Given the description of an element on the screen output the (x, y) to click on. 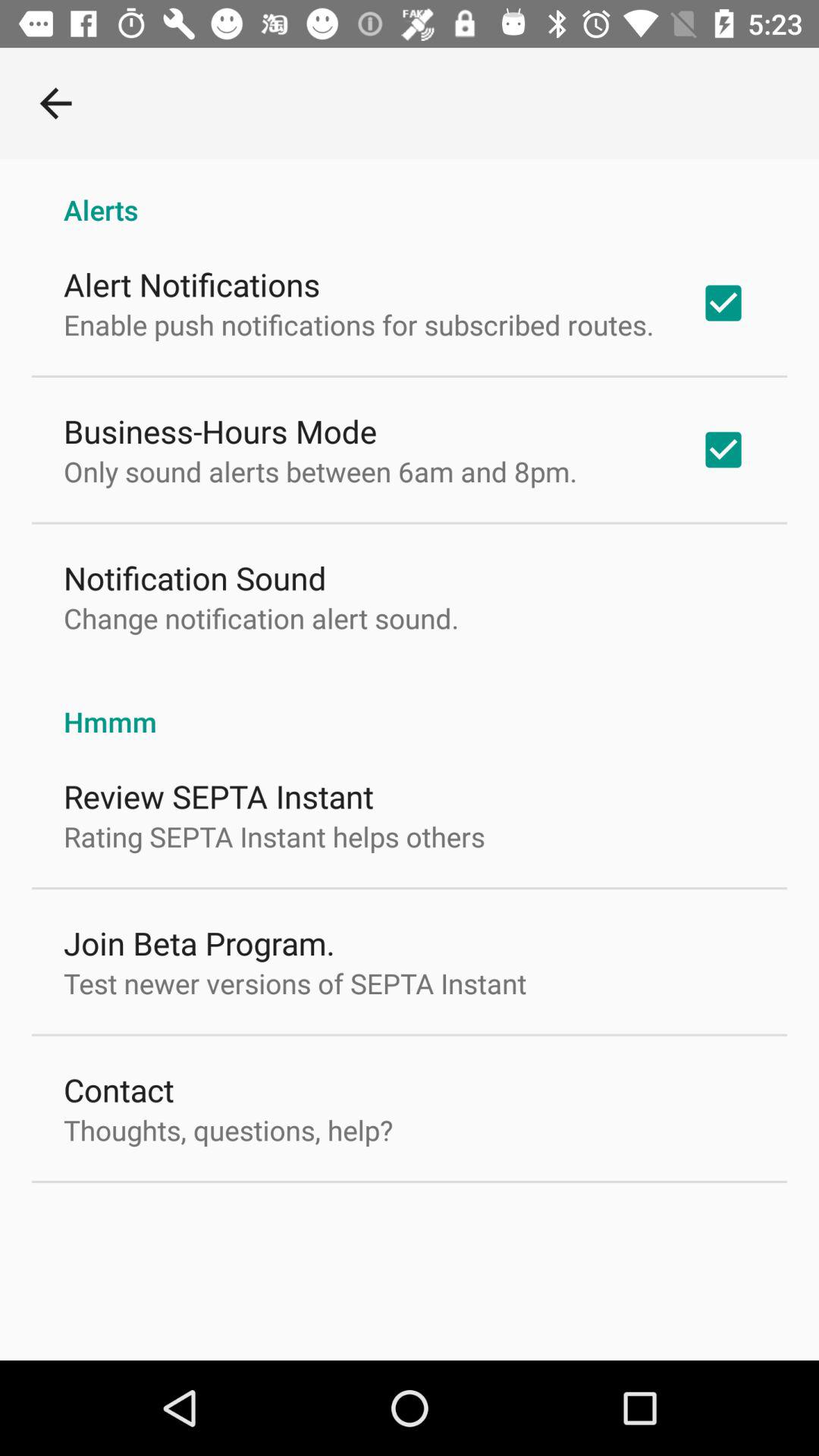
tap the icon below the contact icon (228, 1129)
